Given the description of an element on the screen output the (x, y) to click on. 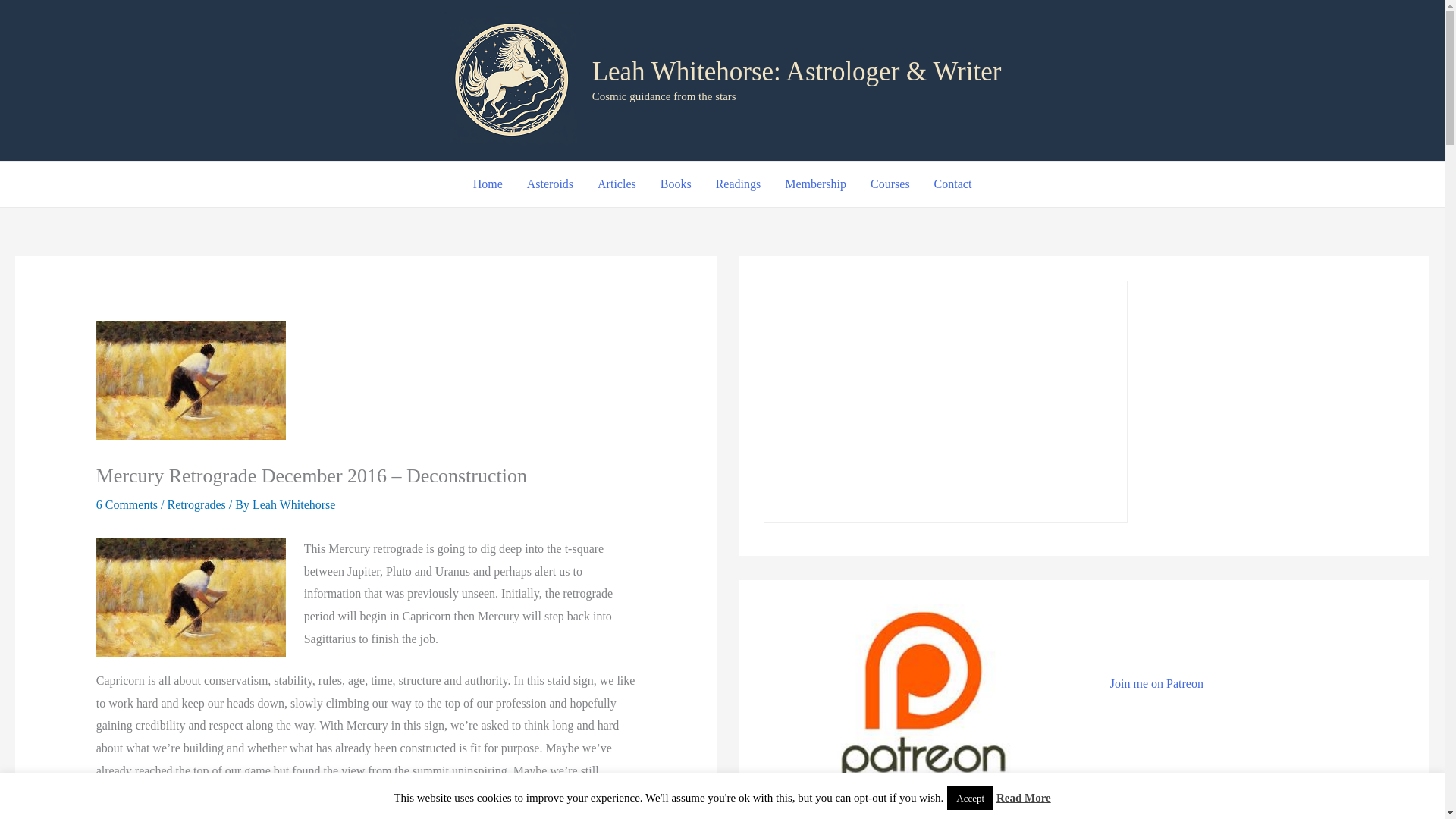
Retrogrades (196, 504)
Books (675, 184)
Readings (738, 184)
Asteroids (550, 184)
Contact (952, 184)
Membership (816, 184)
Courses (890, 184)
Articles (616, 184)
View all posts by Leah Whitehorse (292, 504)
6 Comments (126, 504)
Leah Whitehorse (292, 504)
Home (488, 184)
